Given the description of an element on the screen output the (x, y) to click on. 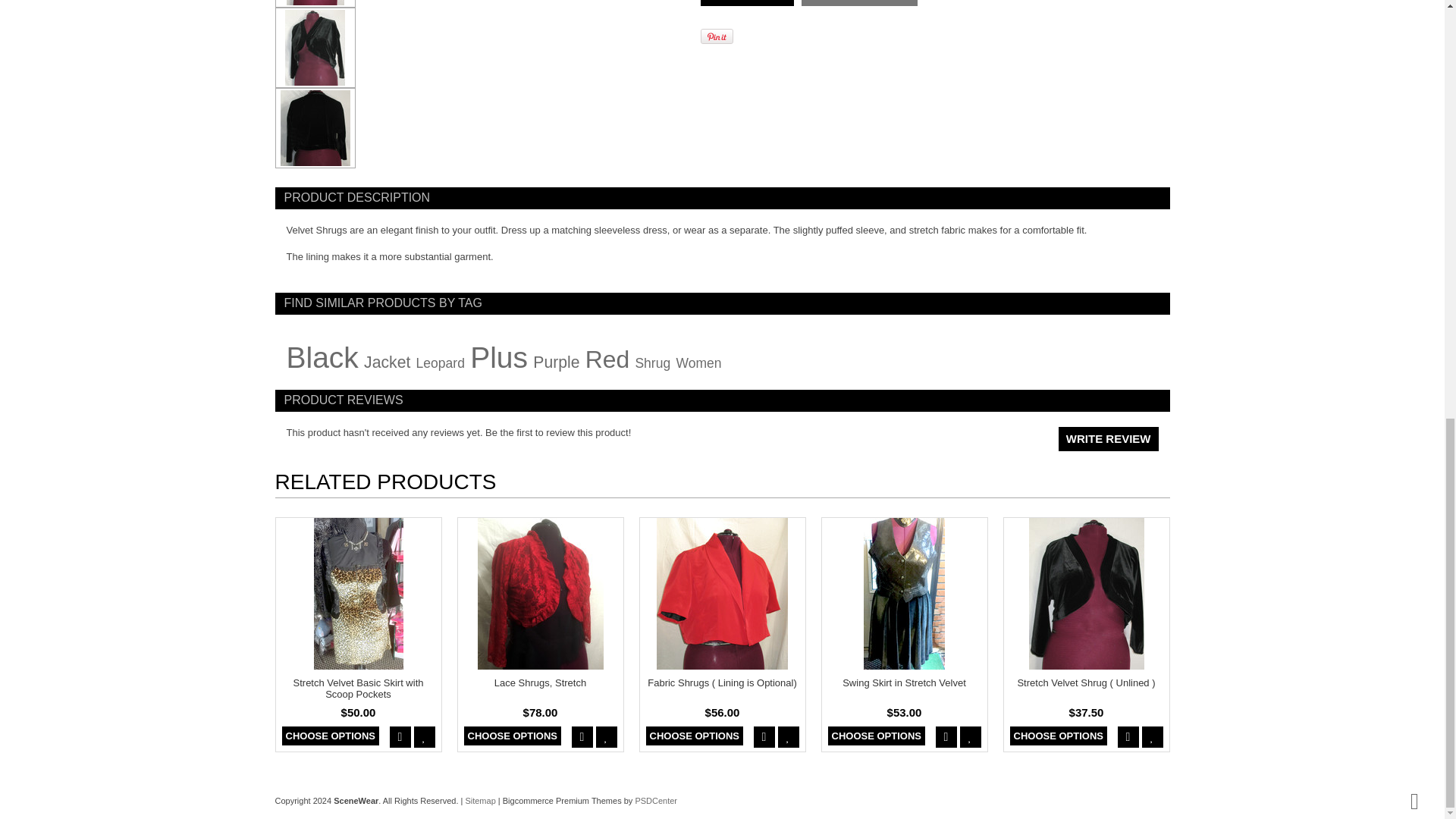
Add to Wishlist (859, 2)
Add To Cart (746, 2)
Stretch Velvet Shrug (315, 3)
